Given the description of an element on the screen output the (x, y) to click on. 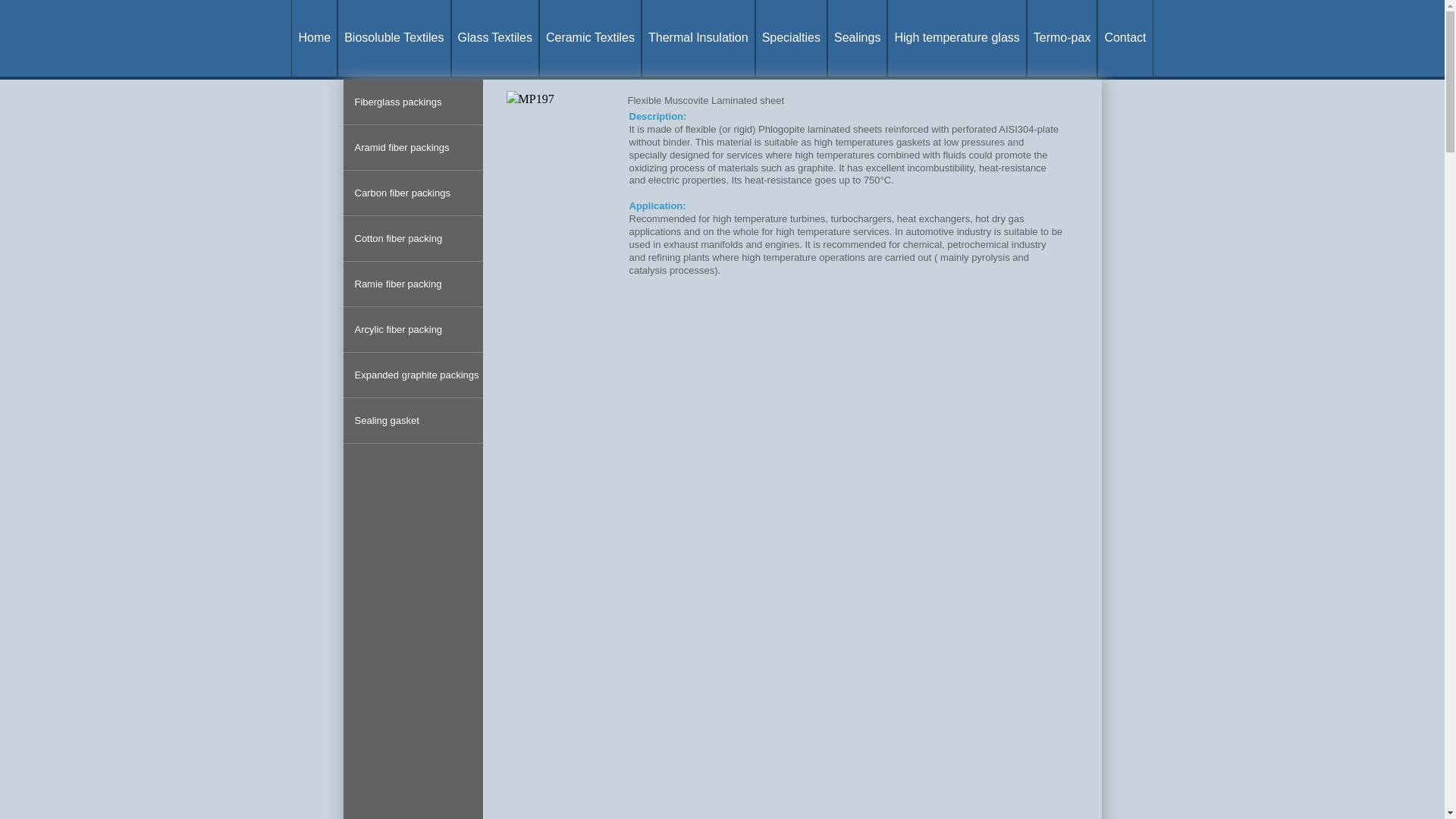
Fiberglass packings (415, 102)
Carbon fiber packings (415, 193)
Expanded graphite packings (415, 375)
Thermal Insulation (698, 38)
Contact (1124, 38)
Glass Textiles (494, 38)
Arcylic fiber packing (415, 329)
Termo-pax (1062, 38)
Ceramic Textiles (590, 38)
Cotton fiber packing (415, 238)
High temperature glass (956, 38)
Sealings (857, 38)
Biosoluble Textiles (393, 38)
Sealing gasket (415, 420)
Home (314, 38)
